Given the description of an element on the screen output the (x, y) to click on. 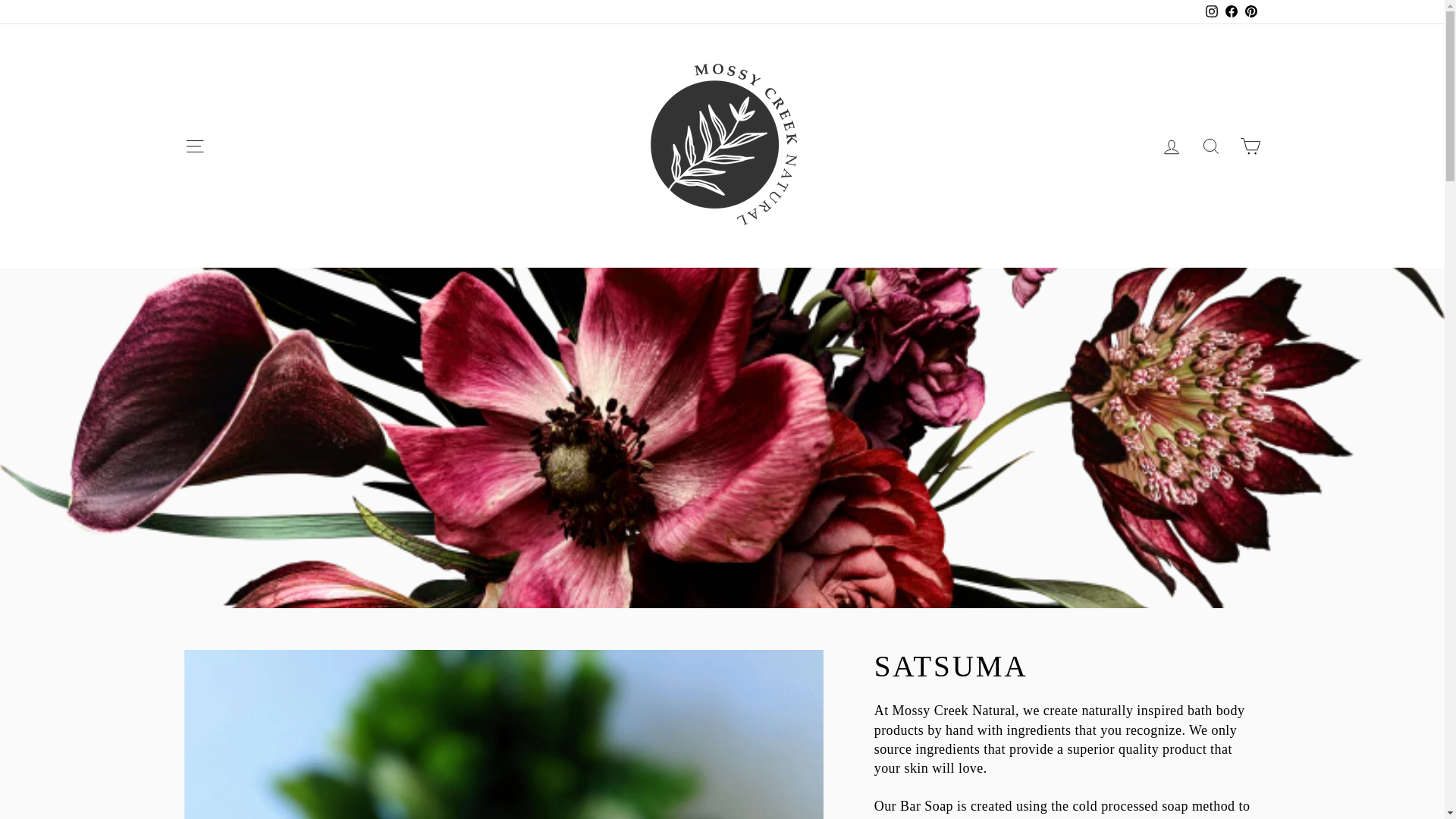
ICON-HAMBURGER (1171, 145)
ICON-SEARCH (1210, 145)
ACCOUNT (194, 146)
instagram (1210, 146)
CART (194, 145)
